Given the description of an element on the screen output the (x, y) to click on. 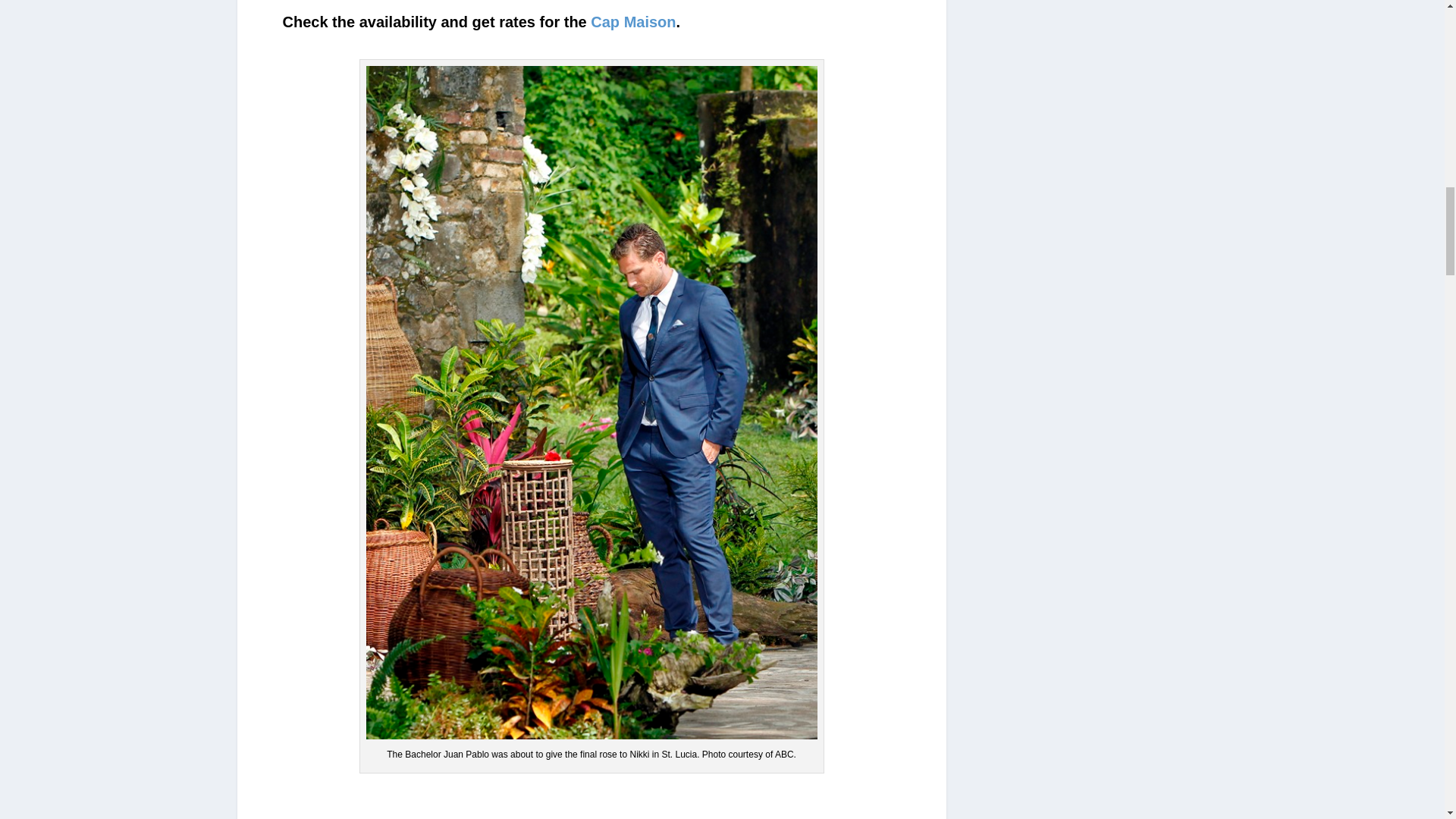
Cap Maison (633, 21)
